Given the description of an element on the screen output the (x, y) to click on. 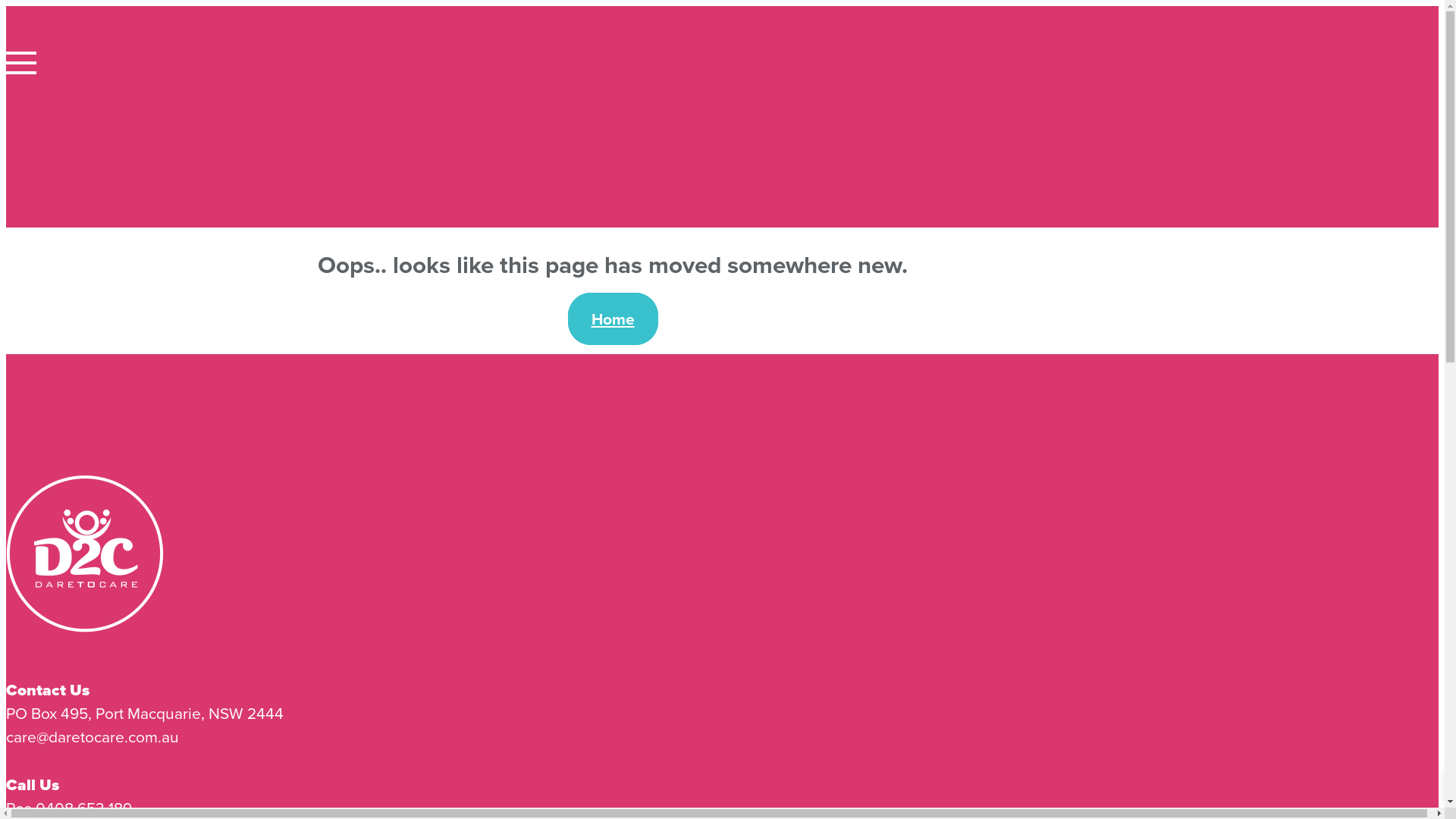
Home Element type: text (612, 318)
Dare To Care Element type: hover (612, 568)
